Given the description of an element on the screen output the (x, y) to click on. 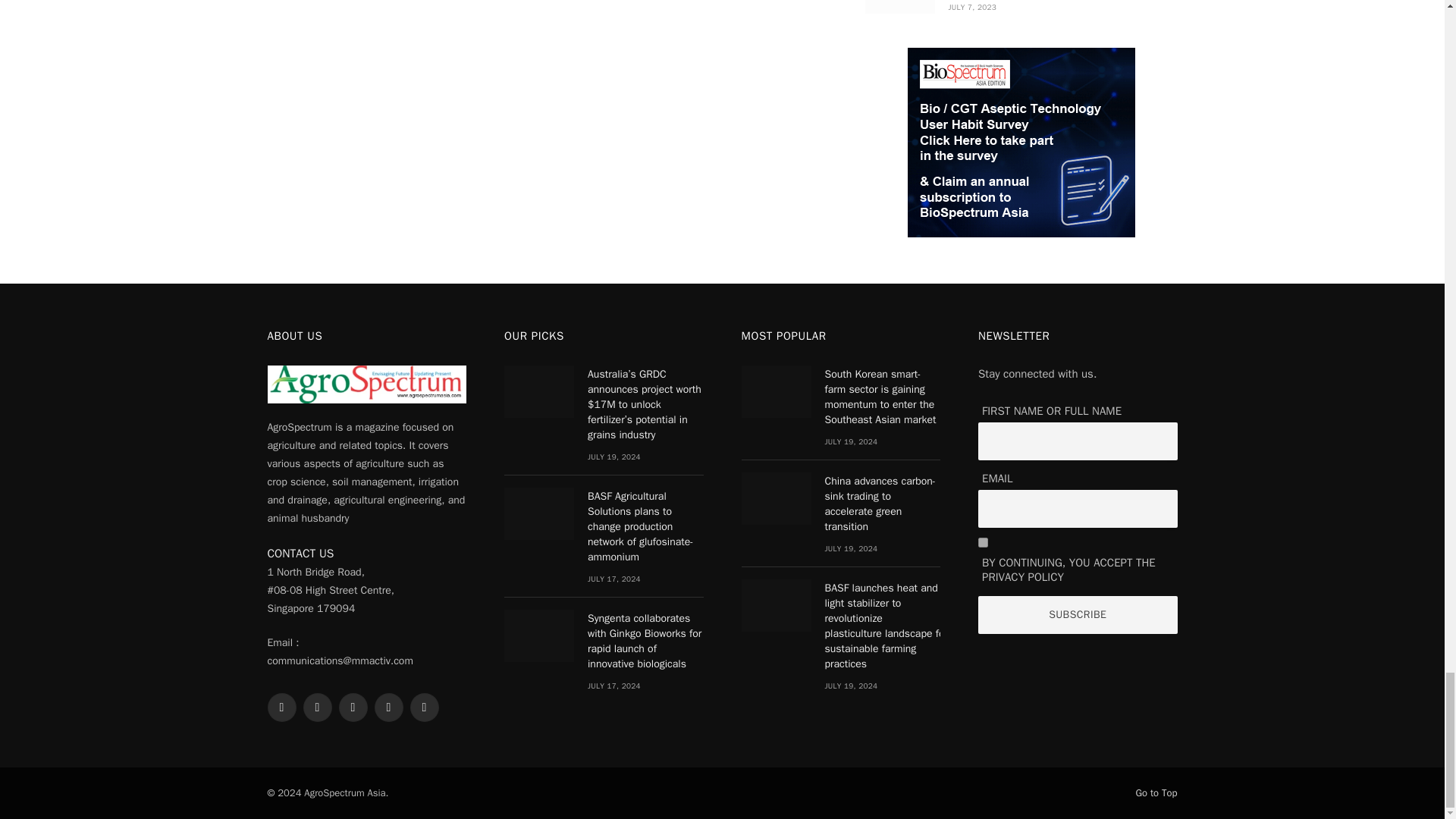
on (983, 542)
Subscribe (1077, 614)
